Given the description of an element on the screen output the (x, y) to click on. 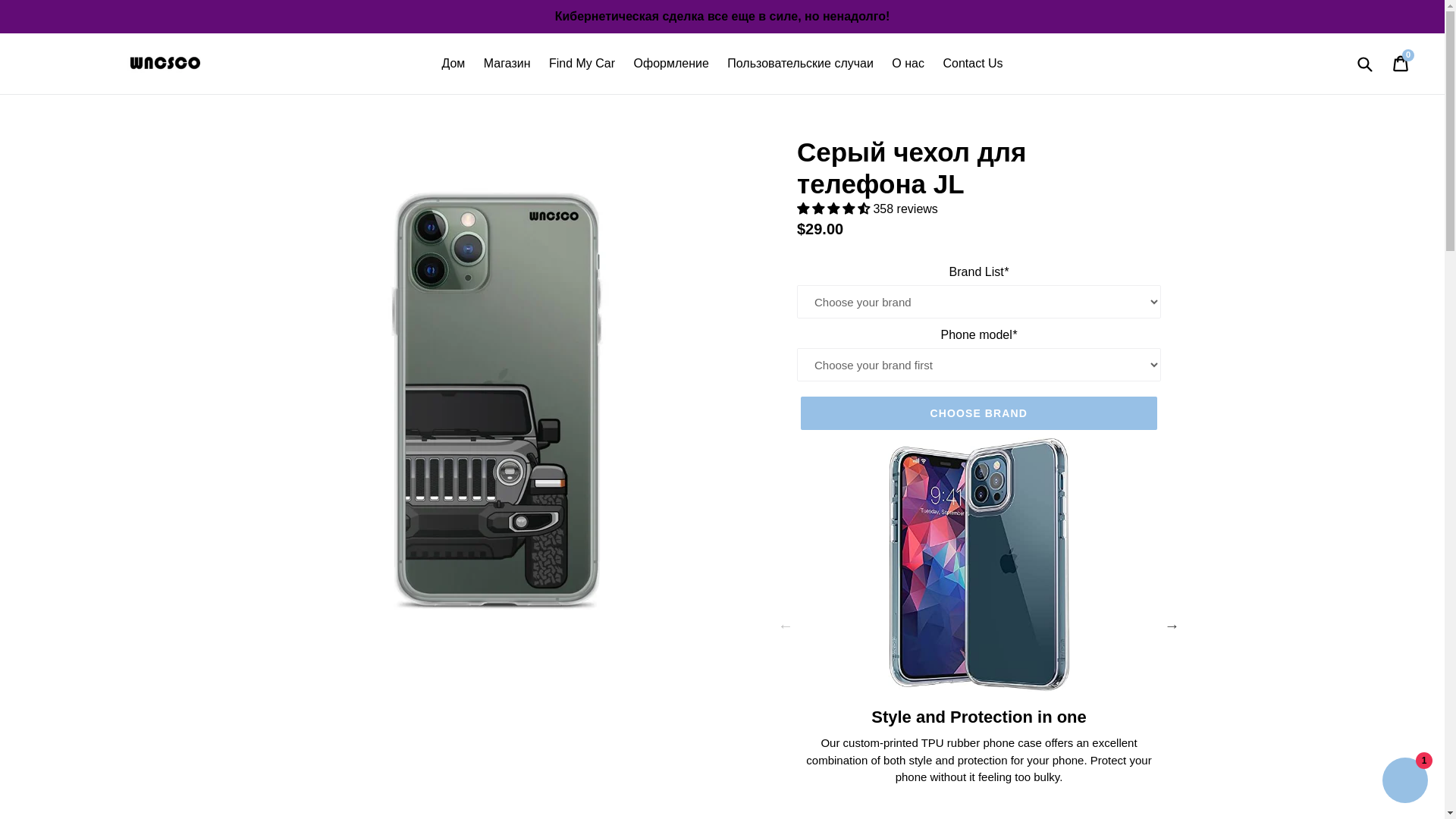
Find My Car (582, 63)
CHOOSE BRAND (978, 412)
Next slide (1171, 625)
Previous slide (785, 625)
Contact Us (972, 63)
